Given the description of an element on the screen output the (x, y) to click on. 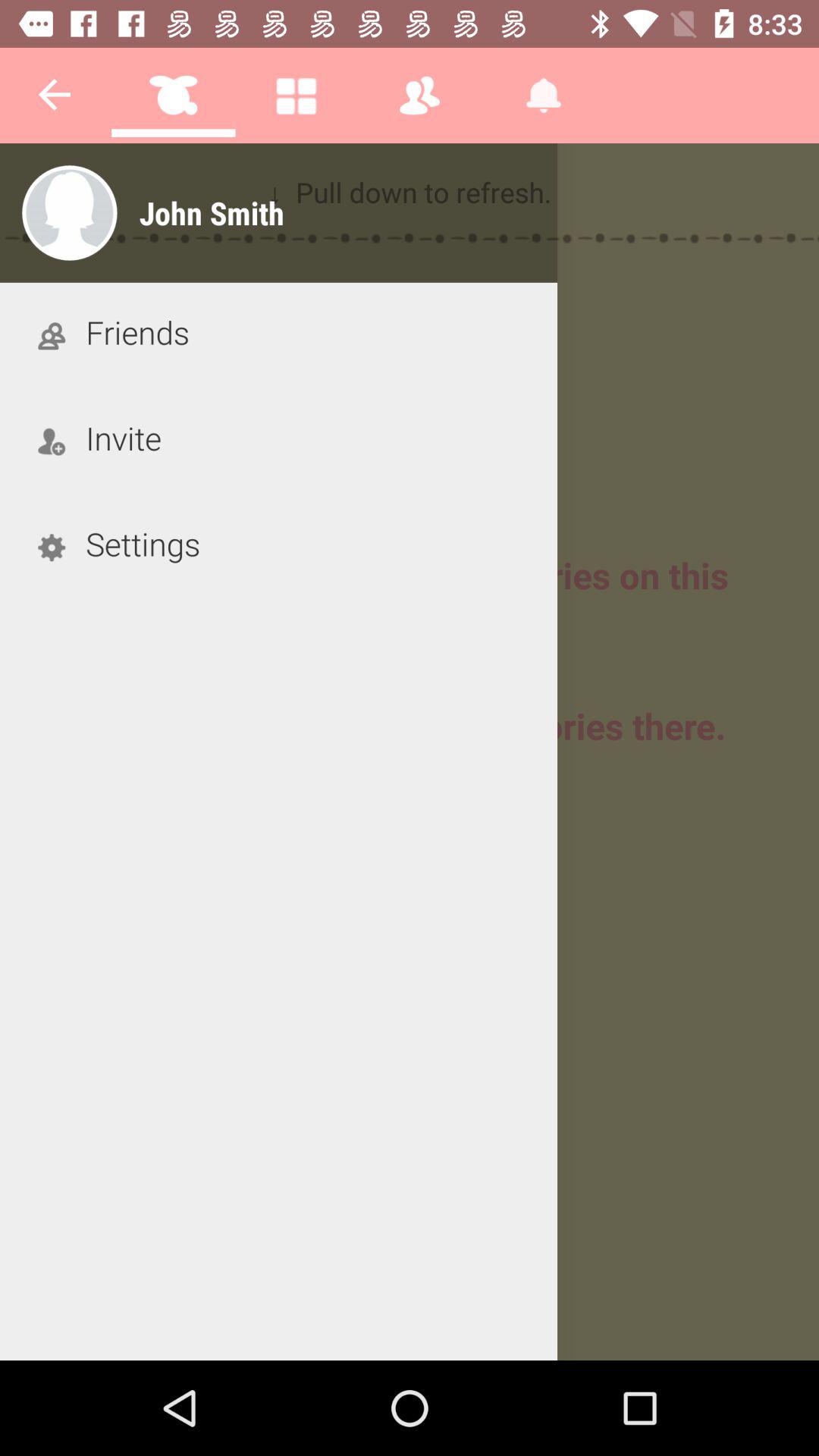
select the friends icon below the profile icon (51, 334)
select the invite icon which is below friends option (51, 440)
select the profile which is at the left side of the page (69, 213)
